Given the description of an element on the screen output the (x, y) to click on. 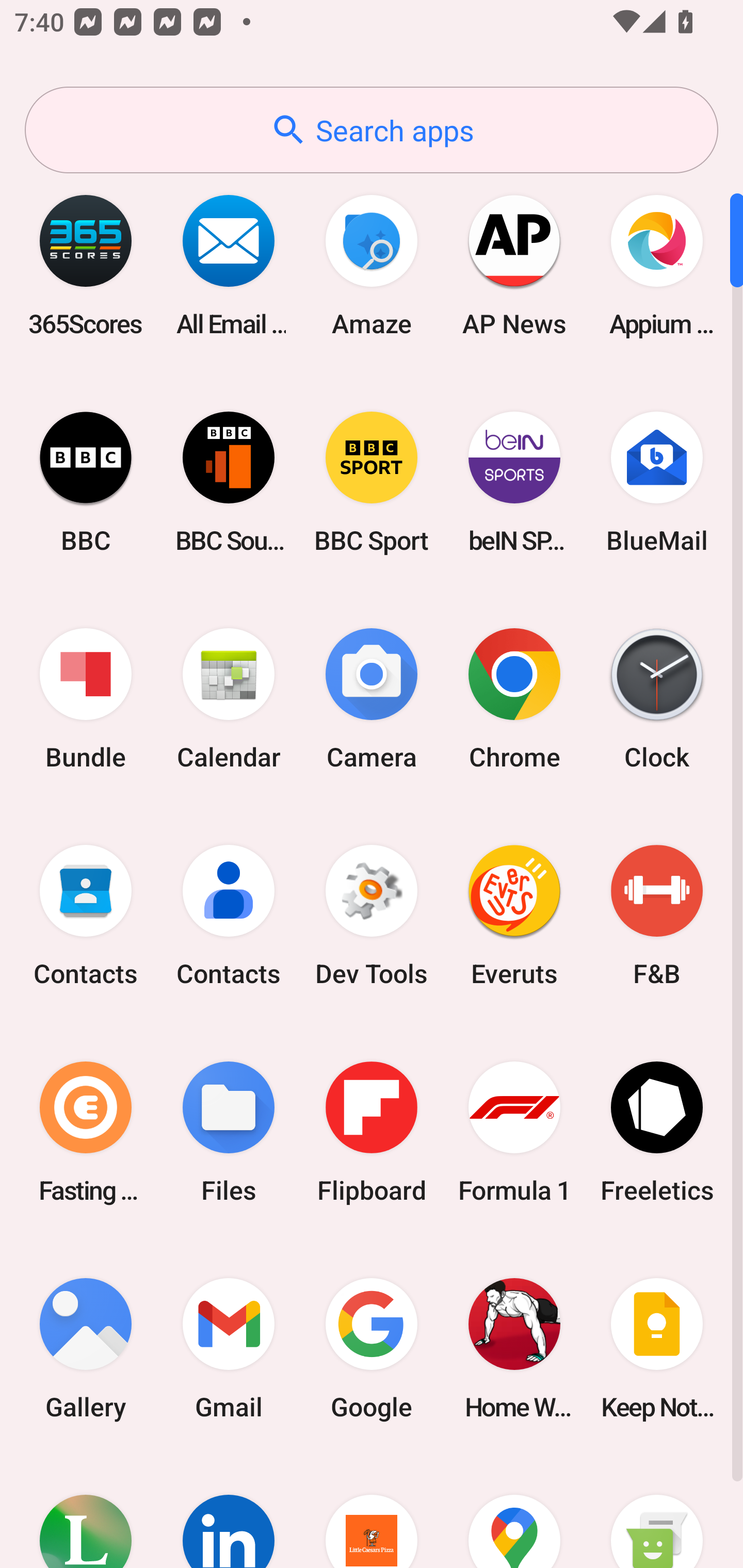
  Search apps (371, 130)
365Scores (85, 264)
All Email Connect (228, 264)
Amaze (371, 264)
AP News (514, 264)
Appium Settings (656, 264)
BBC (85, 482)
BBC Sounds (228, 482)
BBC Sport (371, 482)
beIN SPORTS (514, 482)
BlueMail (656, 482)
Bundle (85, 699)
Calendar (228, 699)
Camera (371, 699)
Chrome (514, 699)
Clock (656, 699)
Contacts (85, 915)
Contacts (228, 915)
Dev Tools (371, 915)
Everuts (514, 915)
F&B (656, 915)
Fasting Coach (85, 1131)
Files (228, 1131)
Flipboard (371, 1131)
Formula 1 (514, 1131)
Freeletics (656, 1131)
Gallery (85, 1348)
Gmail (228, 1348)
Google (371, 1348)
Home Workout (514, 1348)
Keep Notes (656, 1348)
Lifesum (85, 1512)
LinkedIn (228, 1512)
Little Caesars Pizza (371, 1512)
Maps (514, 1512)
Messaging (656, 1512)
